Given the description of an element on the screen output the (x, y) to click on. 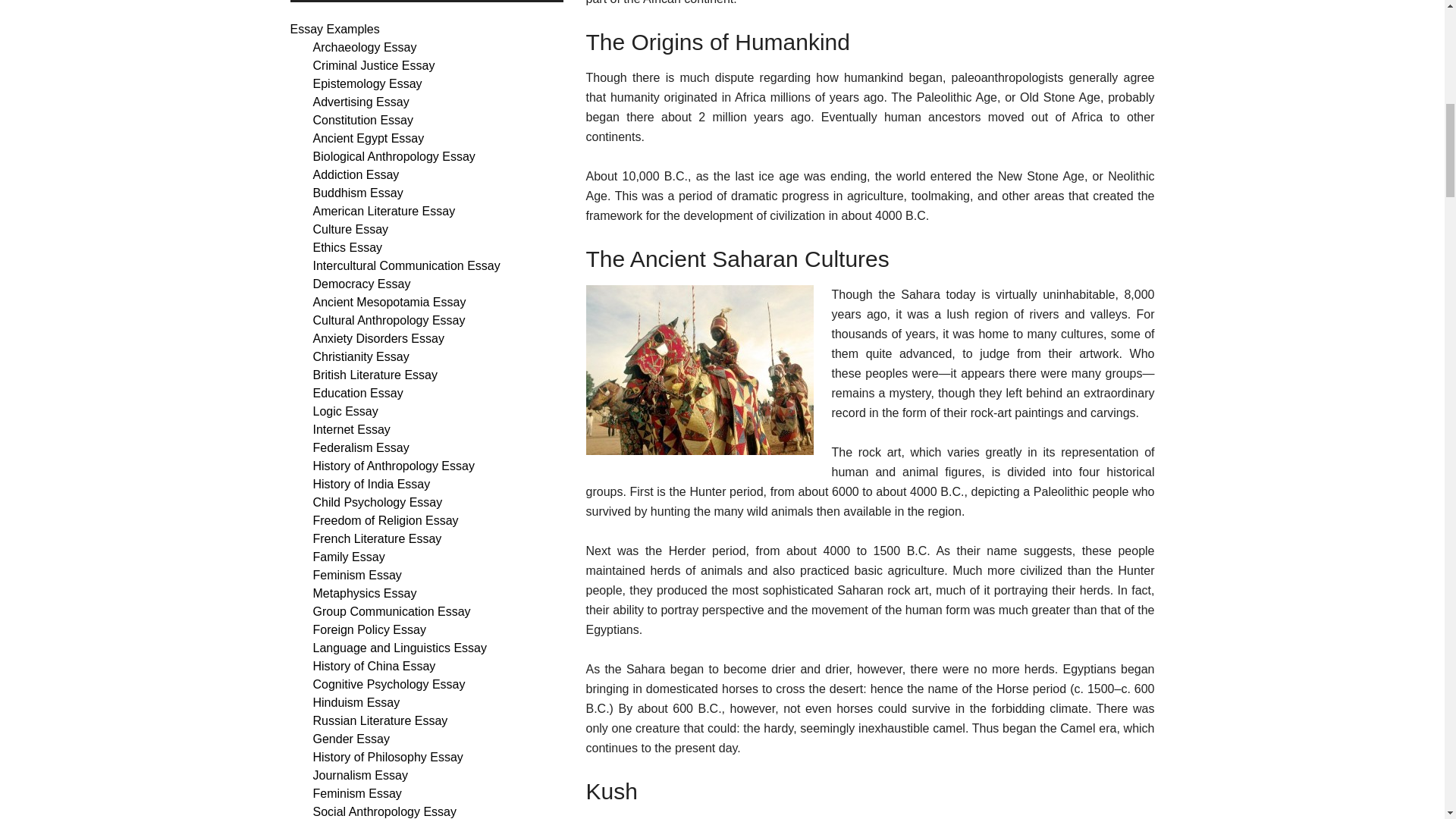
Essay Examples (333, 29)
Epistemology Essay (367, 83)
Criminal Justice Essay (373, 65)
Ancient Egypt Essay (368, 137)
Archaeology Essay (364, 47)
Advertising Essay (361, 101)
Constitution Essay (363, 119)
